Given the description of an element on the screen output the (x, y) to click on. 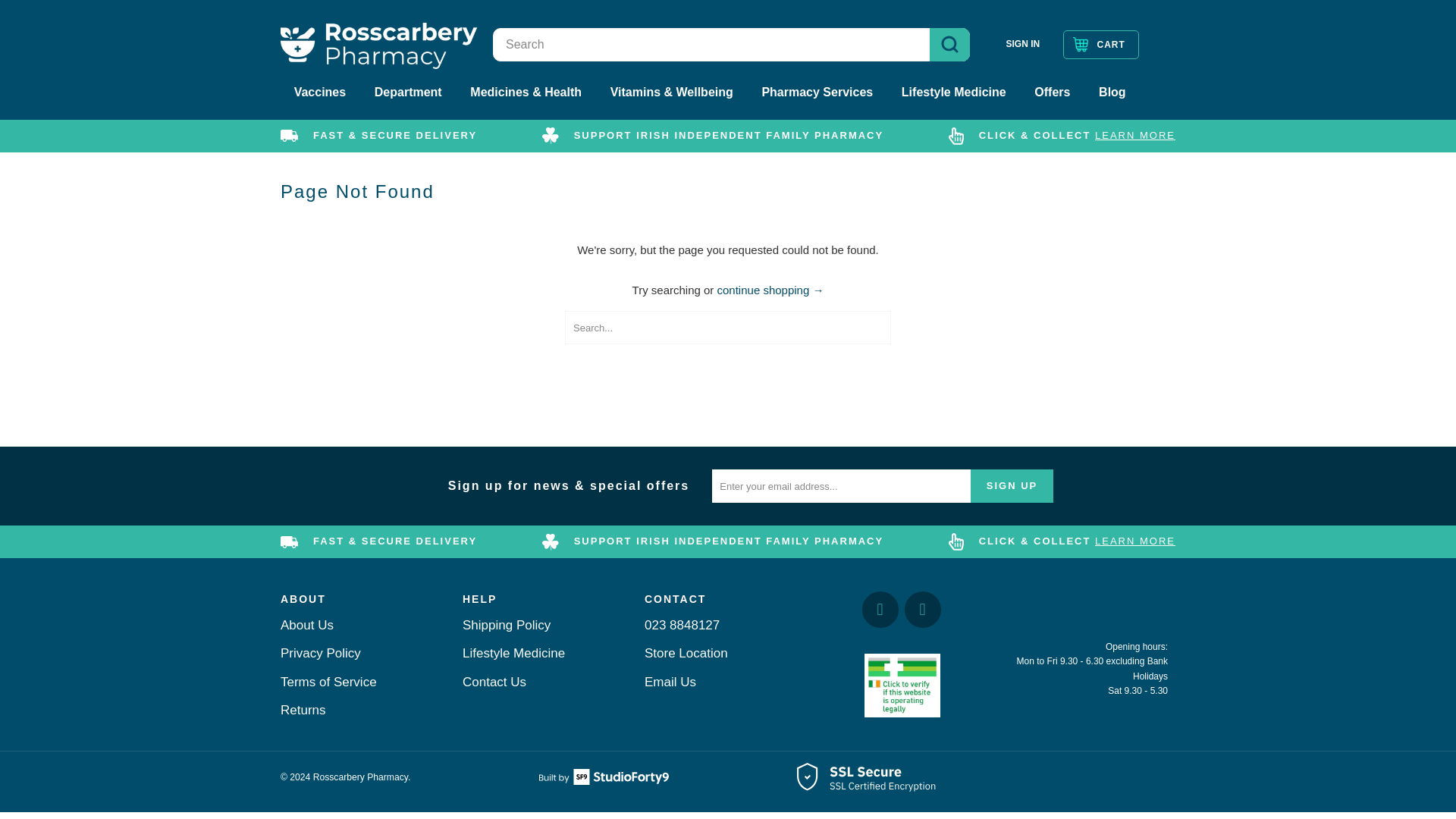
Rosscarbery Pharmacy on Instagram (922, 609)
Shipping Policy (1134, 134)
CART (1100, 44)
SIGN IN (1022, 44)
Department (408, 92)
Locations (686, 653)
Vaccines (320, 92)
Rosscarbery Pharmacy on Facebook (879, 609)
Sign Up (1011, 485)
Shipping Policy (1134, 541)
